Given the description of an element on the screen output the (x, y) to click on. 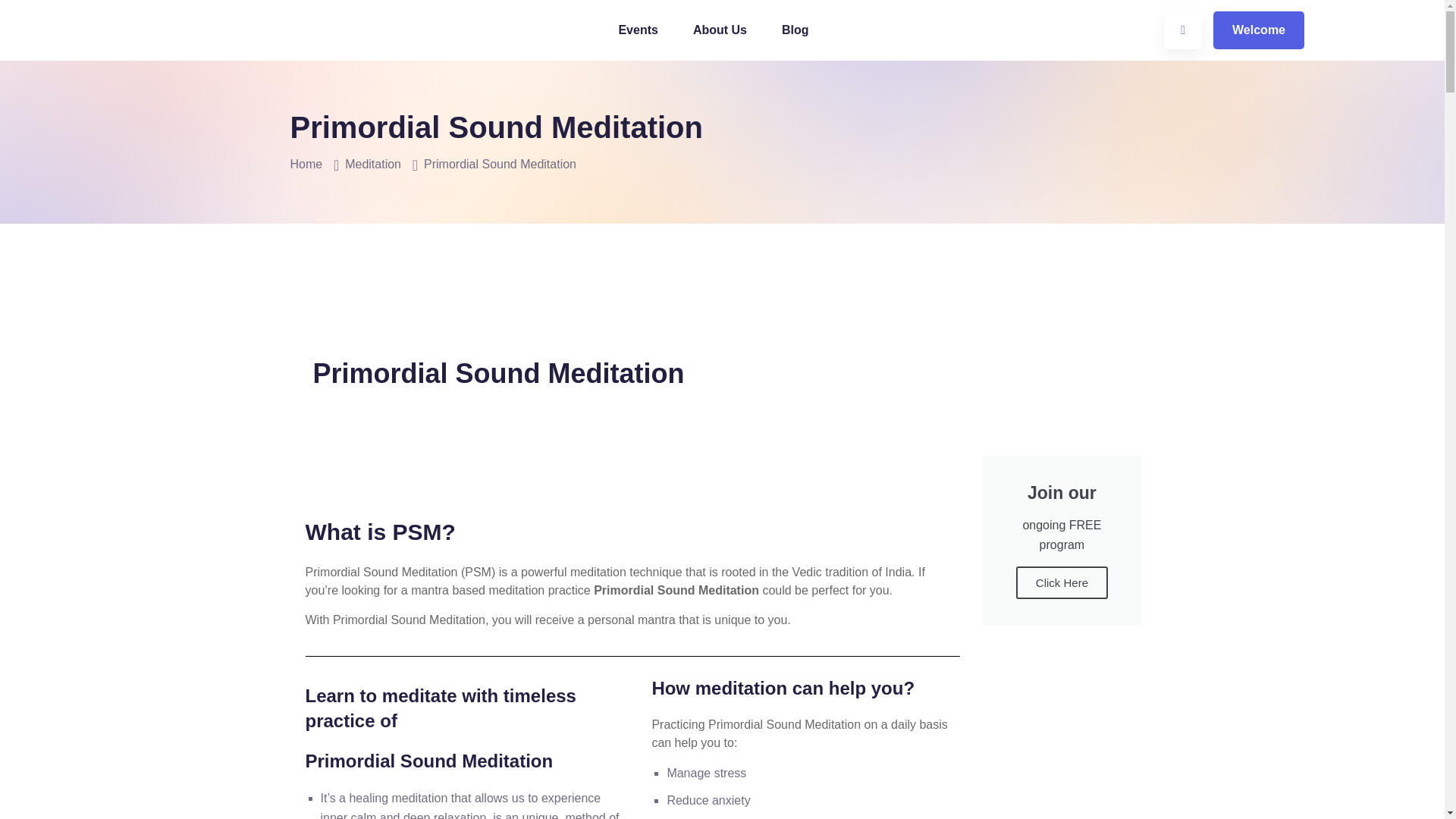
Click Here (1062, 582)
Home (305, 164)
About Us (719, 30)
Events (646, 30)
Blog (795, 30)
Welcome (1258, 30)
